Given the description of an element on the screen output the (x, y) to click on. 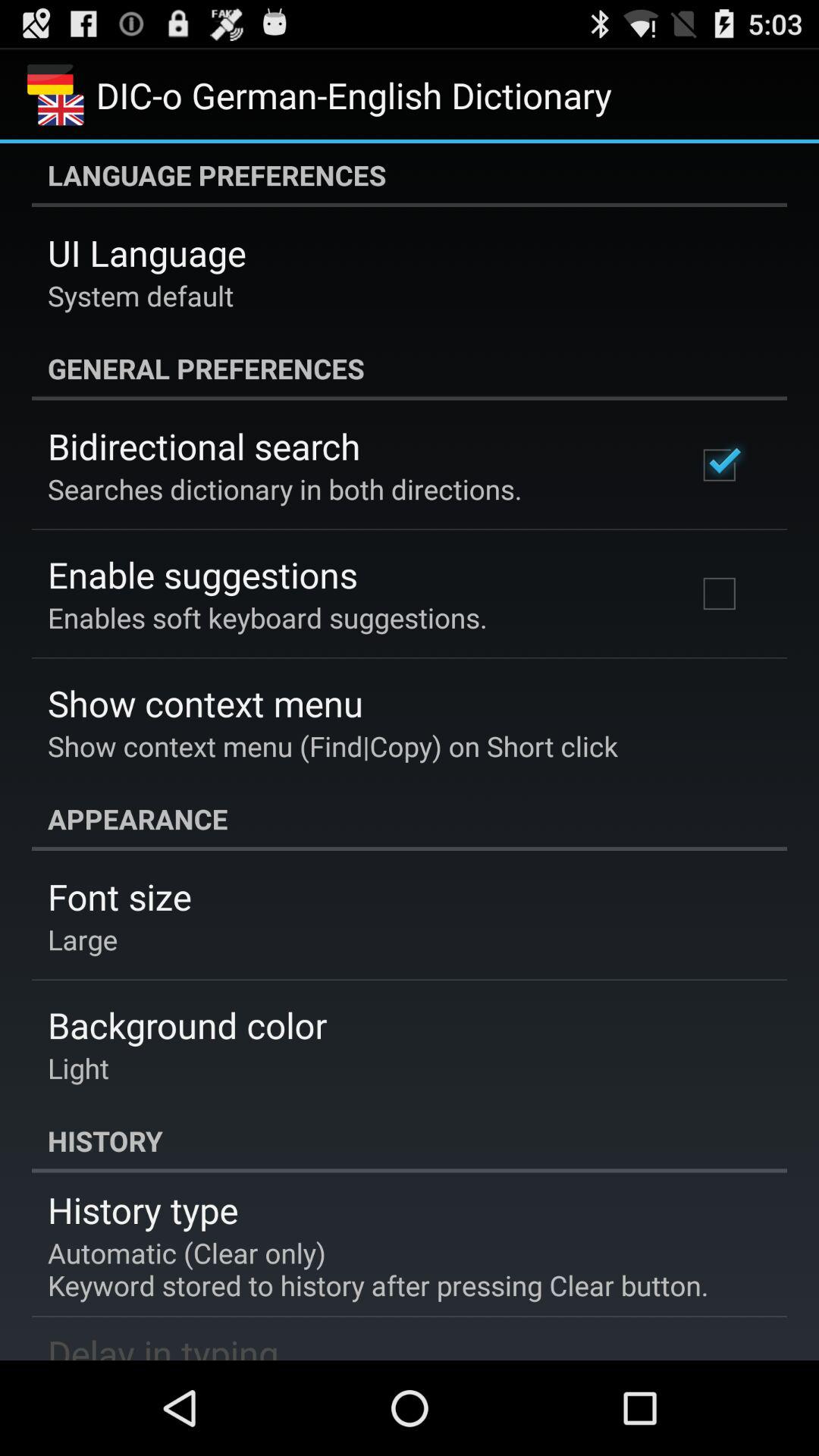
tap app above the automatic clear only icon (142, 1209)
